Given the description of an element on the screen output the (x, y) to click on. 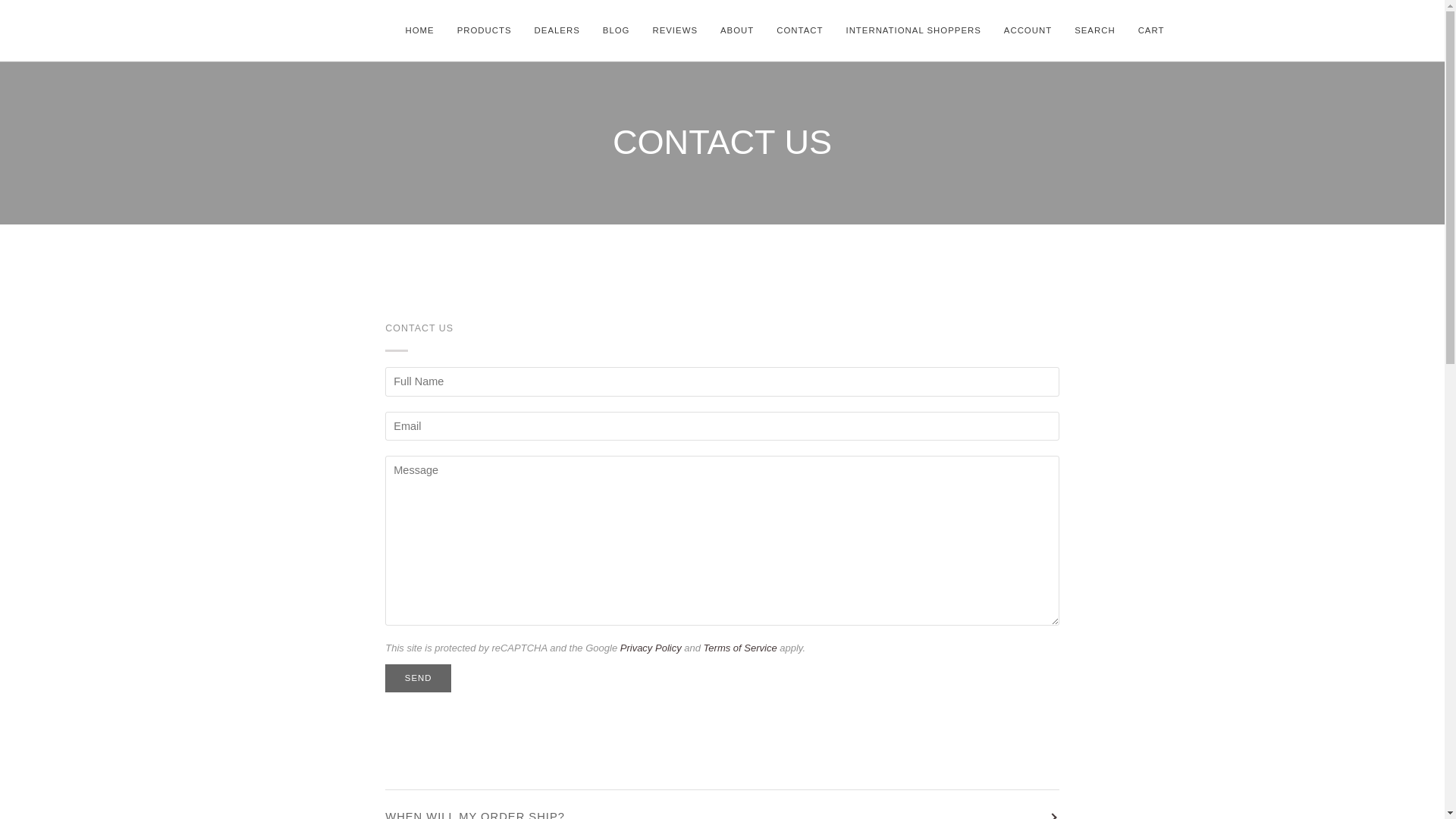
PRODUCTS (483, 30)
DEALERS (556, 30)
ABOUT (737, 30)
INTERNATIONAL SHOPPERS (912, 30)
CONTACT (799, 30)
REVIEWS (674, 30)
